Given the description of an element on the screen output the (x, y) to click on. 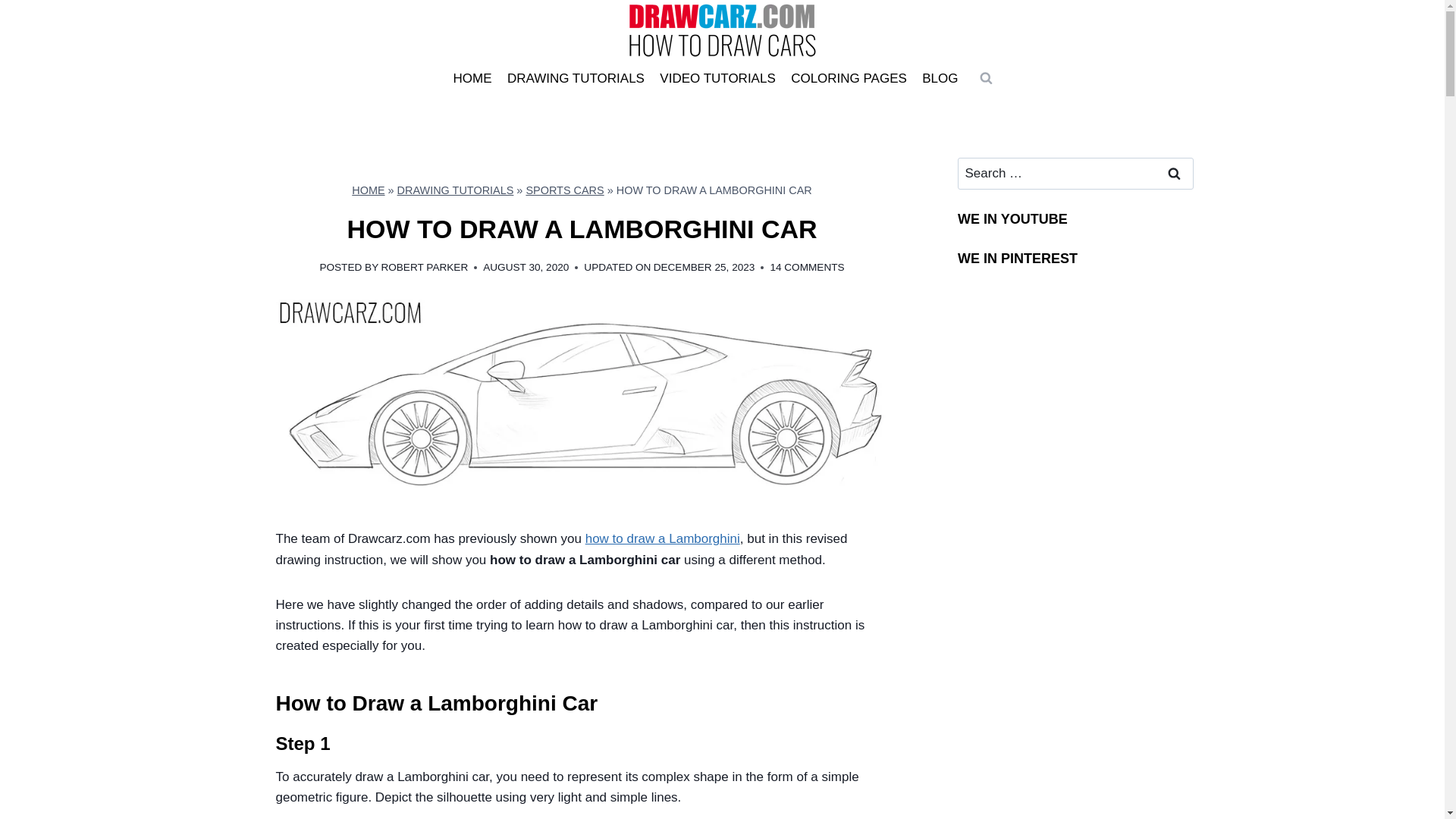
14 COMMENTS (807, 267)
14 COMMENTS (807, 267)
SPORTS CARS (564, 190)
HOME (368, 190)
how to draw a Lamborghini (662, 538)
COLORING PAGES (848, 78)
VIDEO TUTORIALS (717, 78)
DRAWING TUTORIALS (455, 190)
BLOG (940, 78)
DrawCarz (1075, 554)
HOME (472, 78)
DRAWING TUTORIALS (575, 78)
Search (1174, 174)
Search (1174, 174)
